Given the description of an element on the screen output the (x, y) to click on. 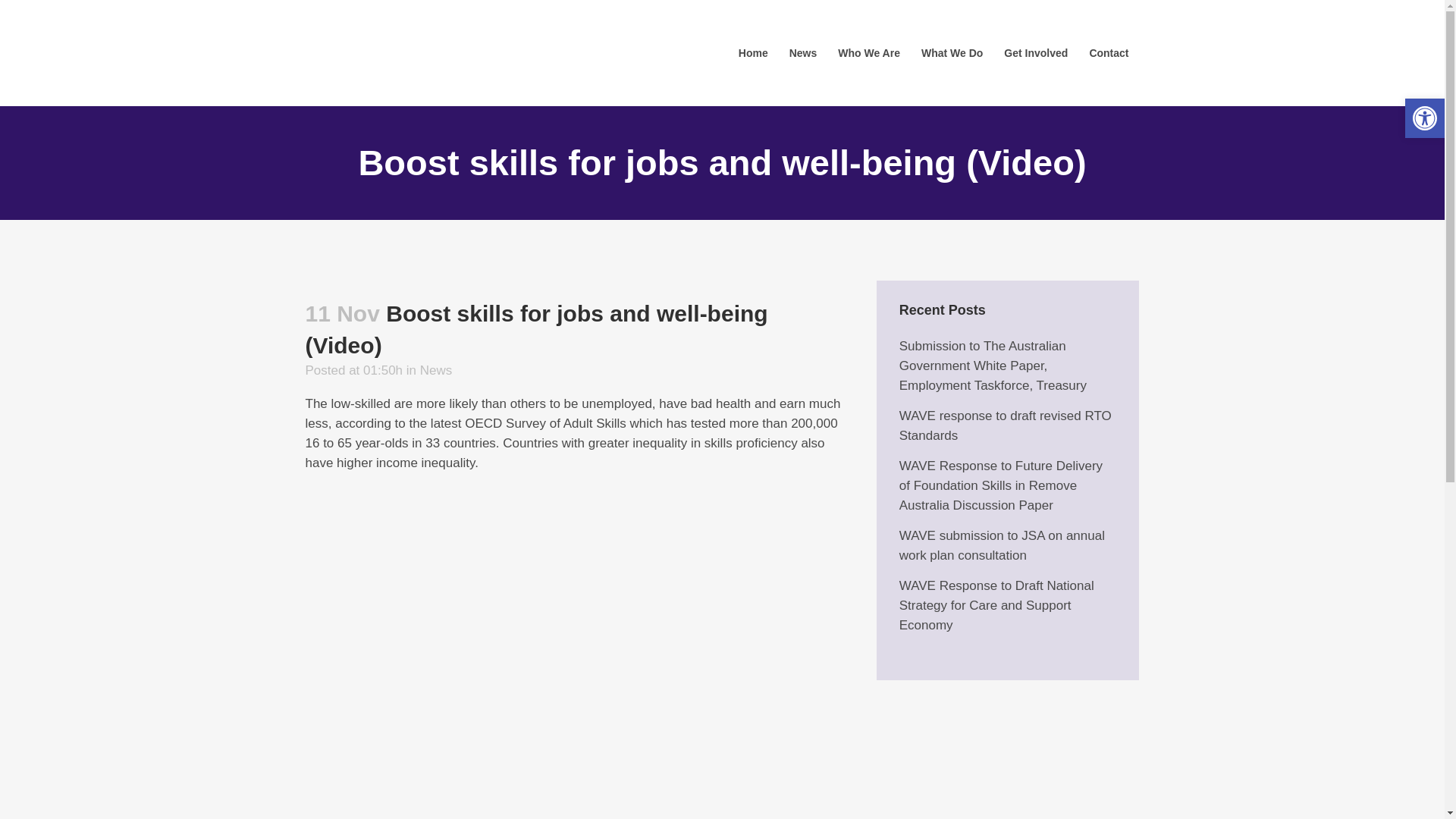
Home Element type: text (753, 53)
News Element type: text (803, 53)
WAVE response to draft revised RTO Standards Element type: text (1005, 425)
What We Do Element type: text (951, 53)
Who We Are Element type: text (868, 53)
Contact Element type: text (1108, 53)
WAVE submission to JSA on annual work plan consultation Element type: text (1001, 545)
Get Involved Element type: text (1035, 53)
News Element type: text (436, 370)
Open toolbar
Accessibility Tools Element type: text (1424, 118)
